Given the description of an element on the screen output the (x, y) to click on. 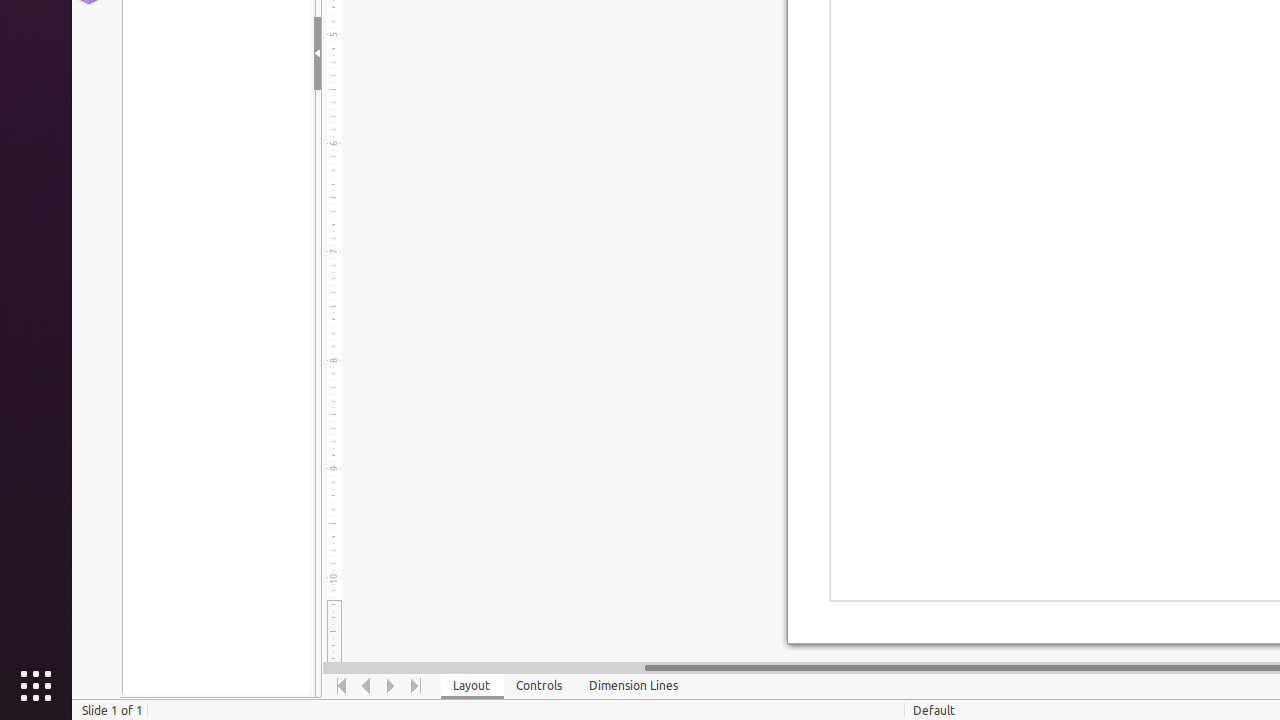
Layout Element type: page-tab (472, 686)
Dimension Lines Element type: page-tab (634, 686)
Show Applications Element type: toggle-button (36, 686)
Move To End Element type: push-button (416, 686)
Controls Element type: page-tab (540, 686)
